Given the description of an element on the screen output the (x, y) to click on. 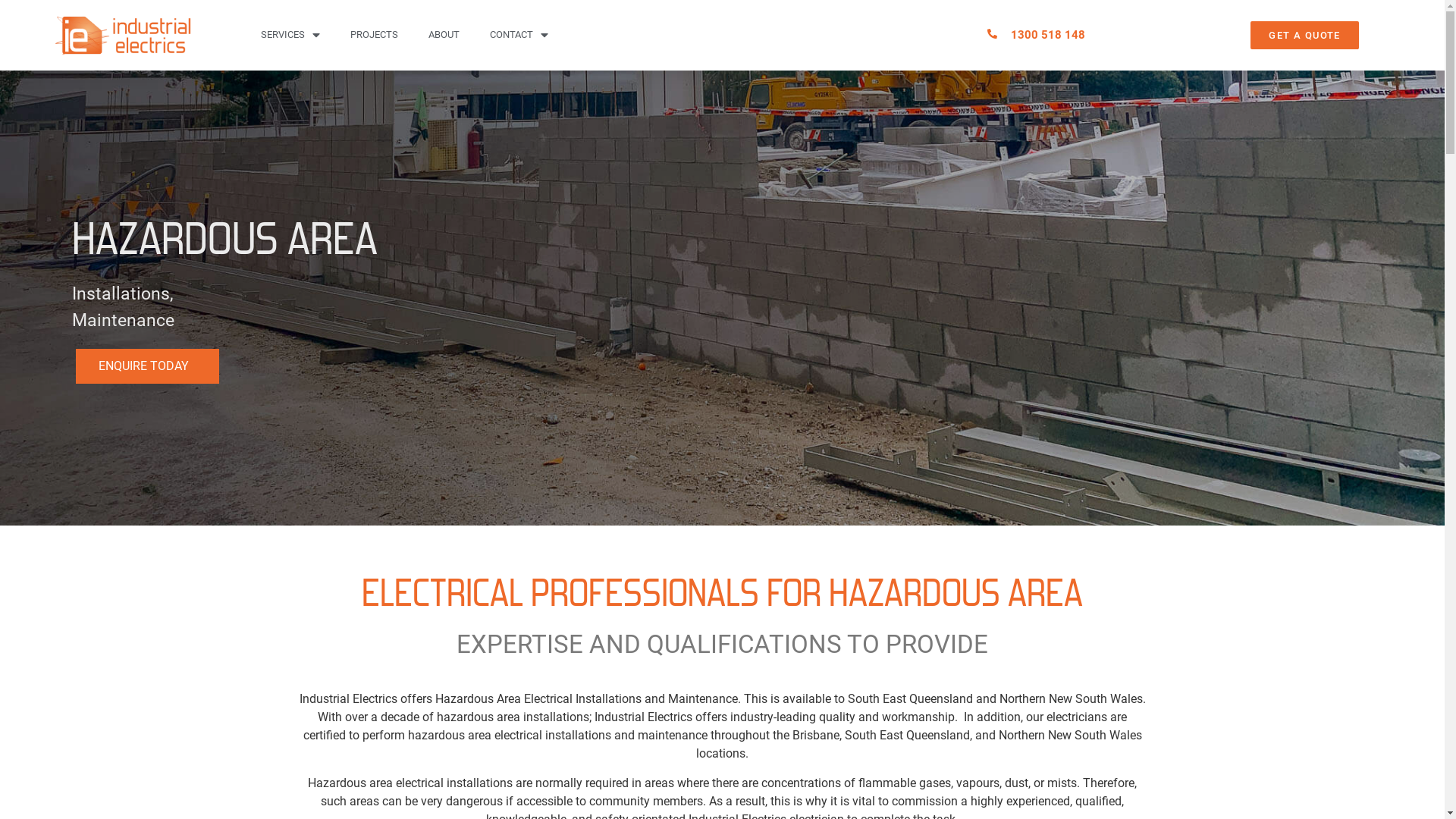
CONTACT Element type: text (518, 34)
SERVICES Element type: text (290, 34)
ABOUT Element type: text (443, 34)
ENQUIRE TODAY Element type: text (147, 365)
1300 518 148 Element type: text (1047, 34)
GET A QUOTE Element type: text (1304, 34)
PROJECTS Element type: text (374, 34)
